Given the description of an element on the screen output the (x, y) to click on. 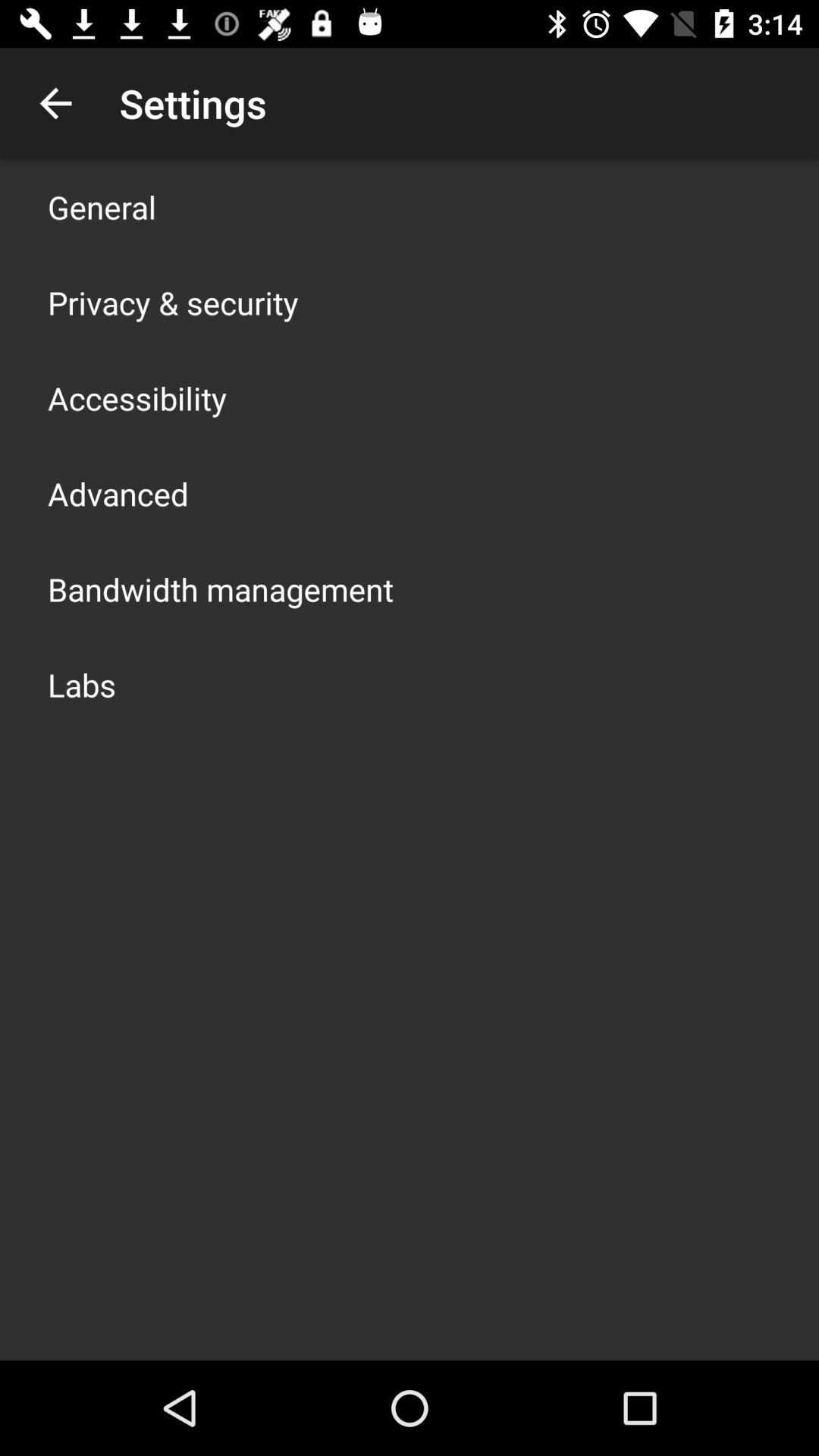
turn off general item (101, 206)
